Given the description of an element on the screen output the (x, y) to click on. 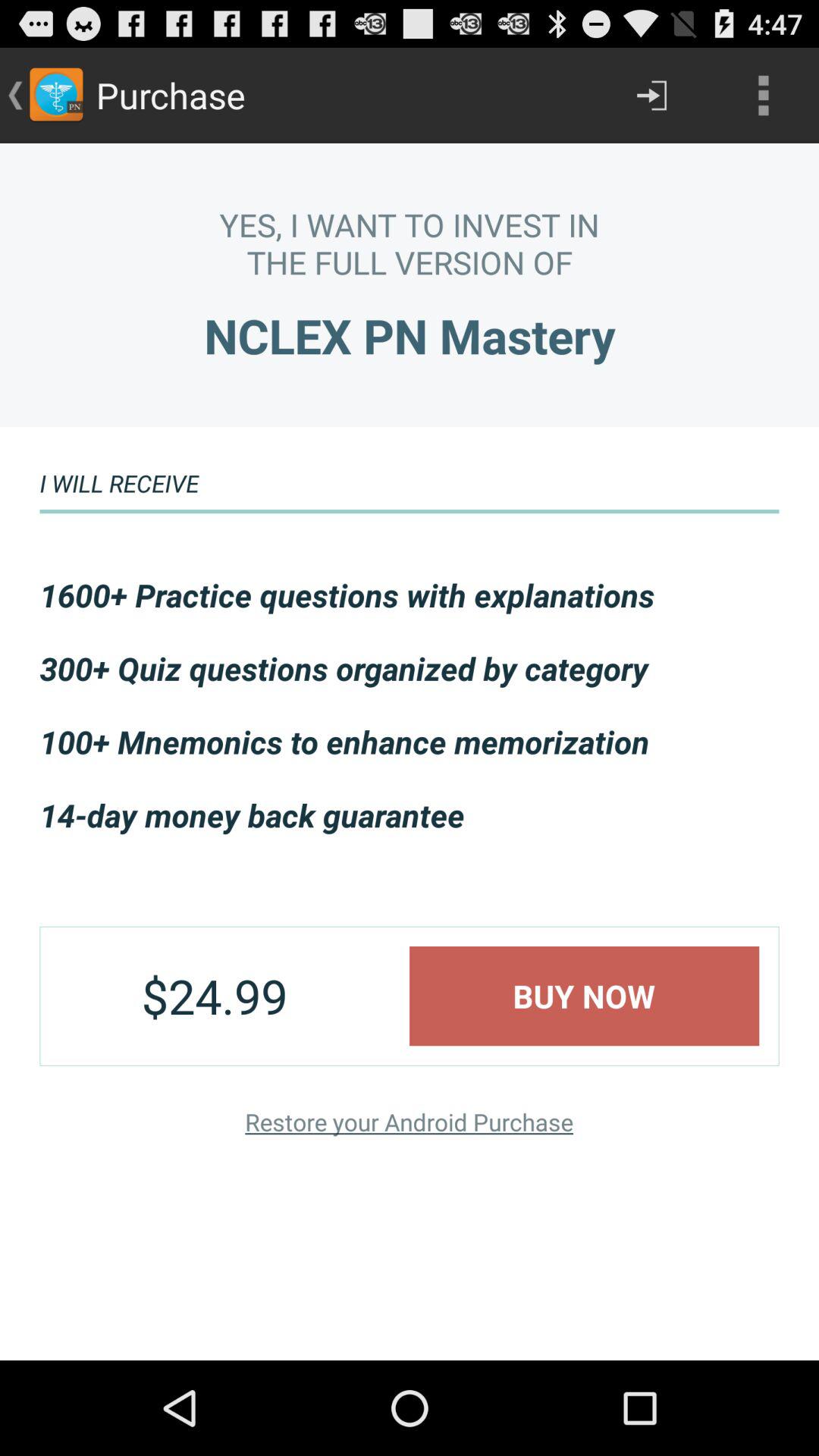
turn off the item below $24.99 (409, 1121)
